Given the description of an element on the screen output the (x, y) to click on. 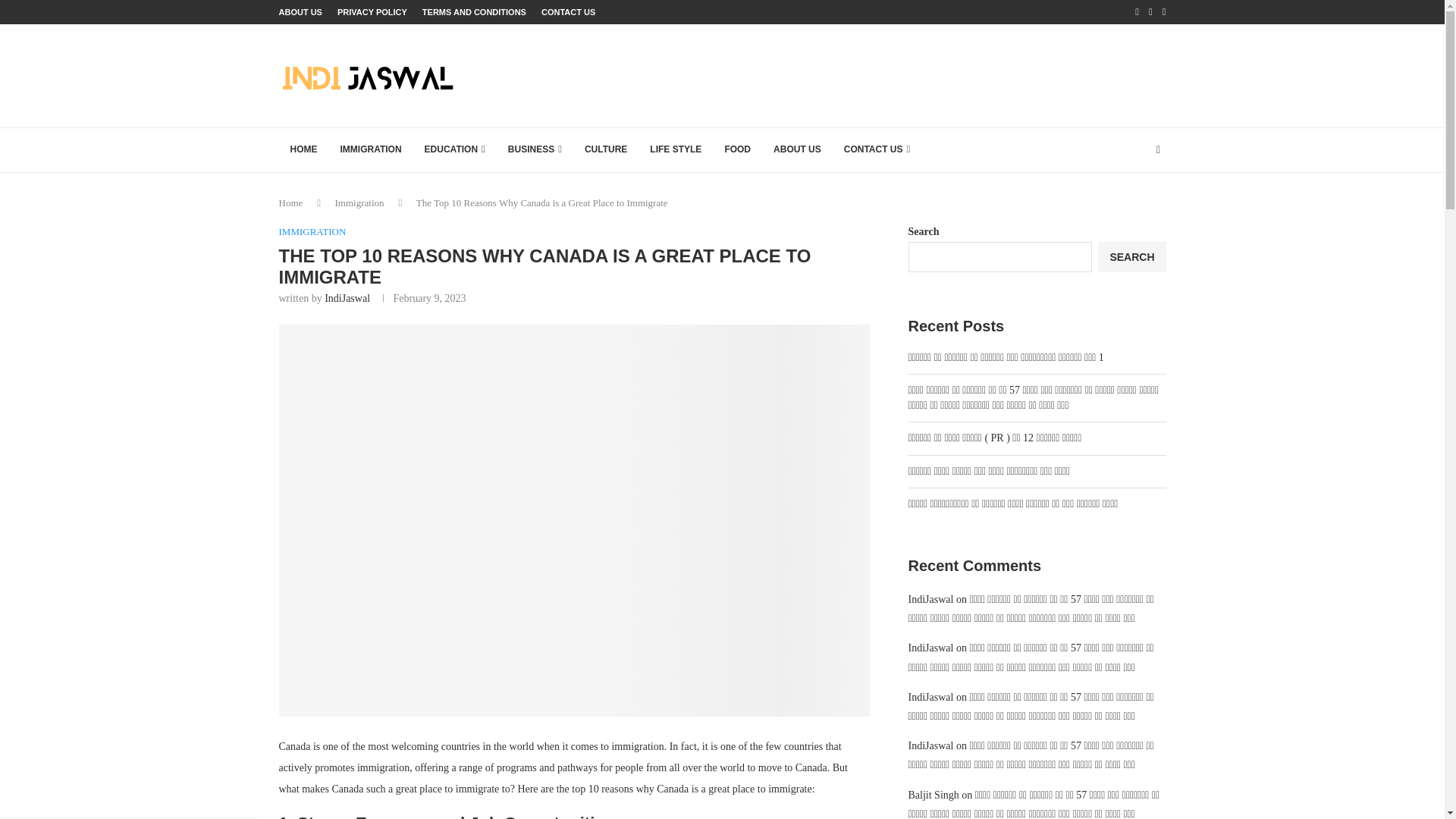
HOME (304, 149)
IndiJaswal (346, 297)
EDUCATION (454, 149)
TERMS AND CONDITIONS (473, 12)
ABOUT US (796, 149)
Home (290, 202)
IMMIGRATION (312, 232)
LIFE STYLE (676, 149)
CONTACT US (568, 12)
